Given the description of an element on the screen output the (x, y) to click on. 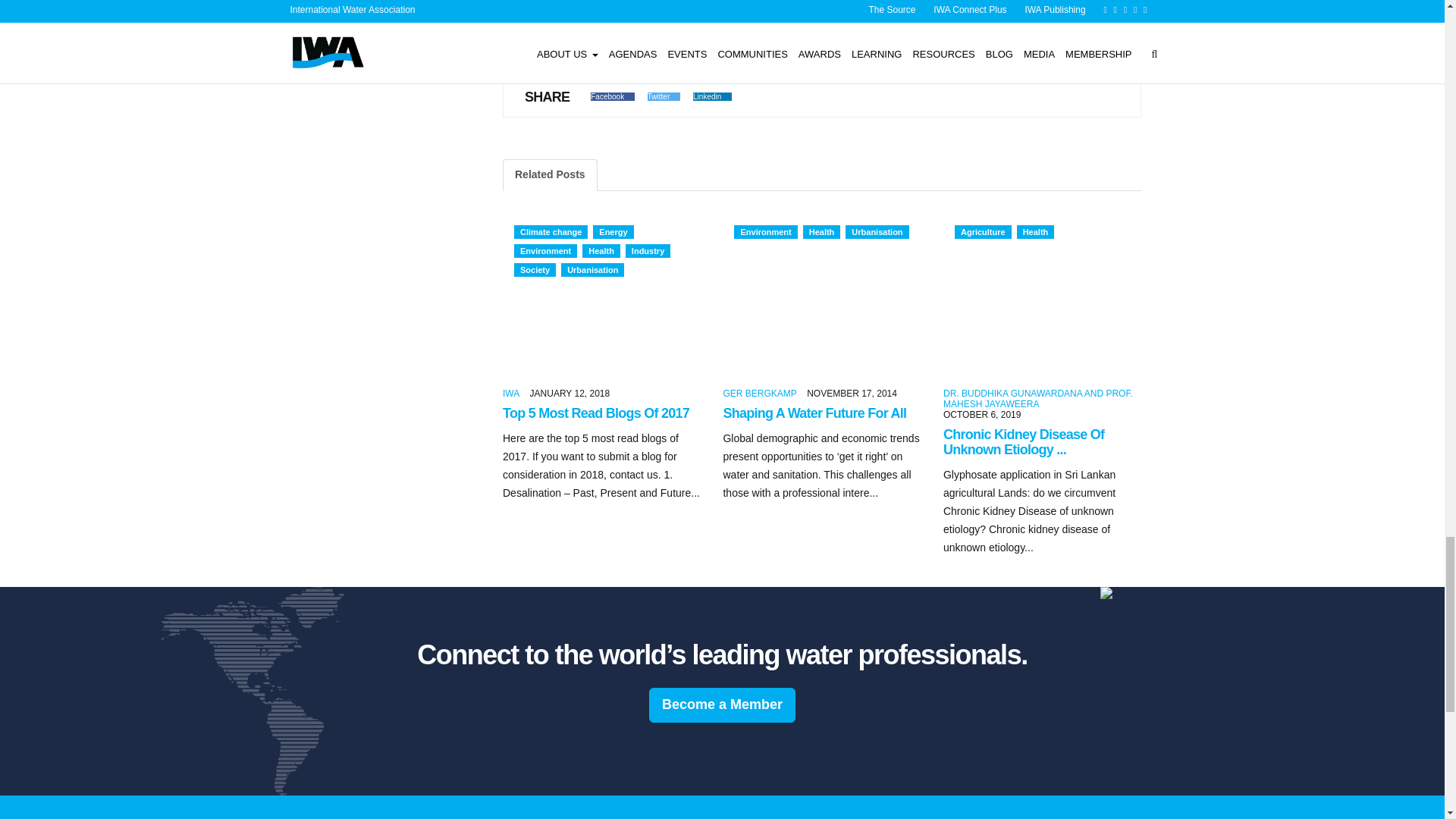
Top 5 Most Read Blogs Of 2017 (595, 413)
Linkedin (712, 96)
Posts by IWA (510, 393)
Related Posts (549, 174)
Posts by Ger Bergkamp (759, 393)
Facebook (612, 96)
IWA (510, 393)
Twitter (663, 96)
Posts by Dr. Buddhika Gunawardana and Prof. Mahesh Jayaweera (1037, 398)
